Given the description of an element on the screen output the (x, y) to click on. 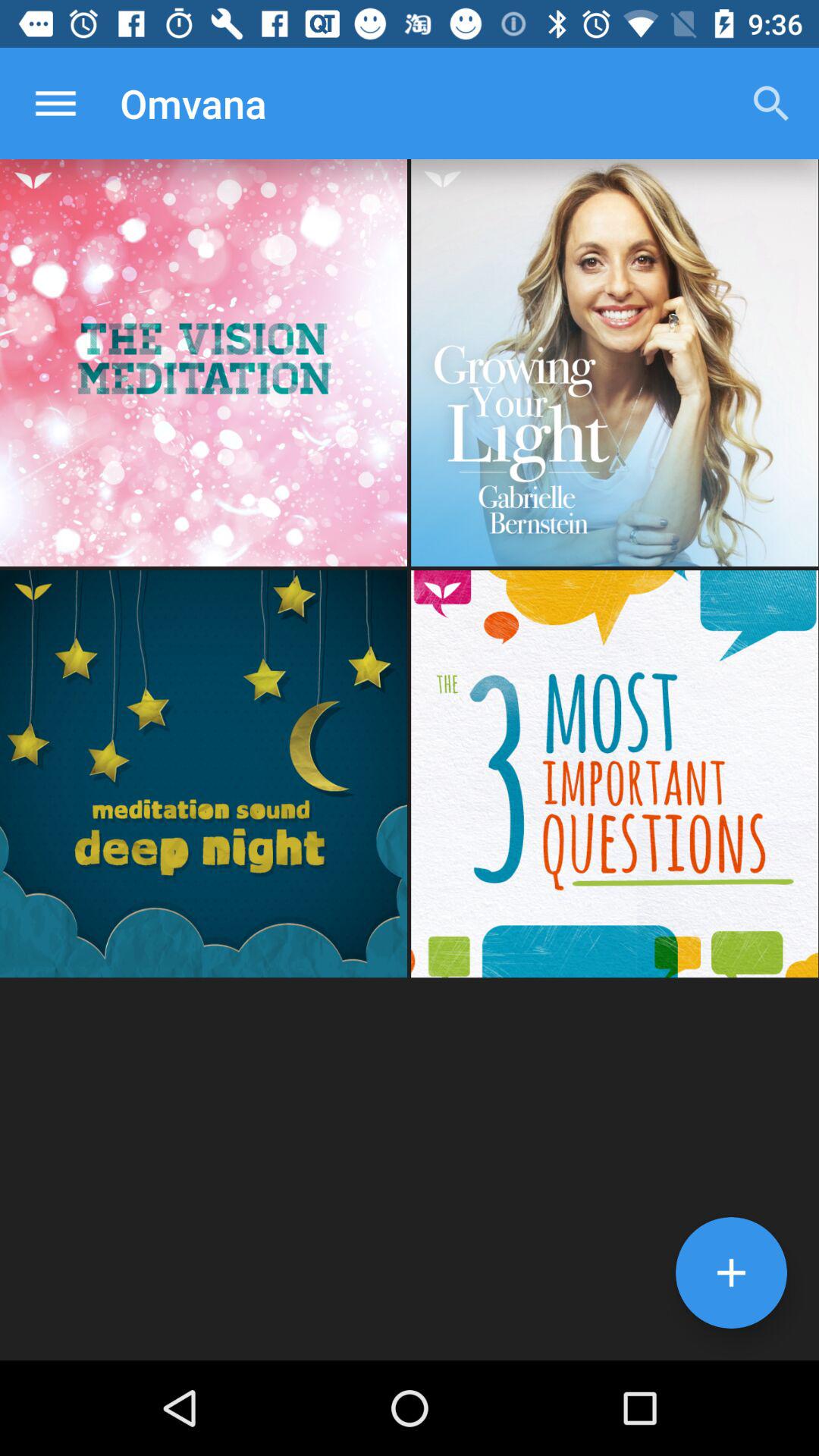
tap item at the bottom right corner (731, 1272)
